Given the description of an element on the screen output the (x, y) to click on. 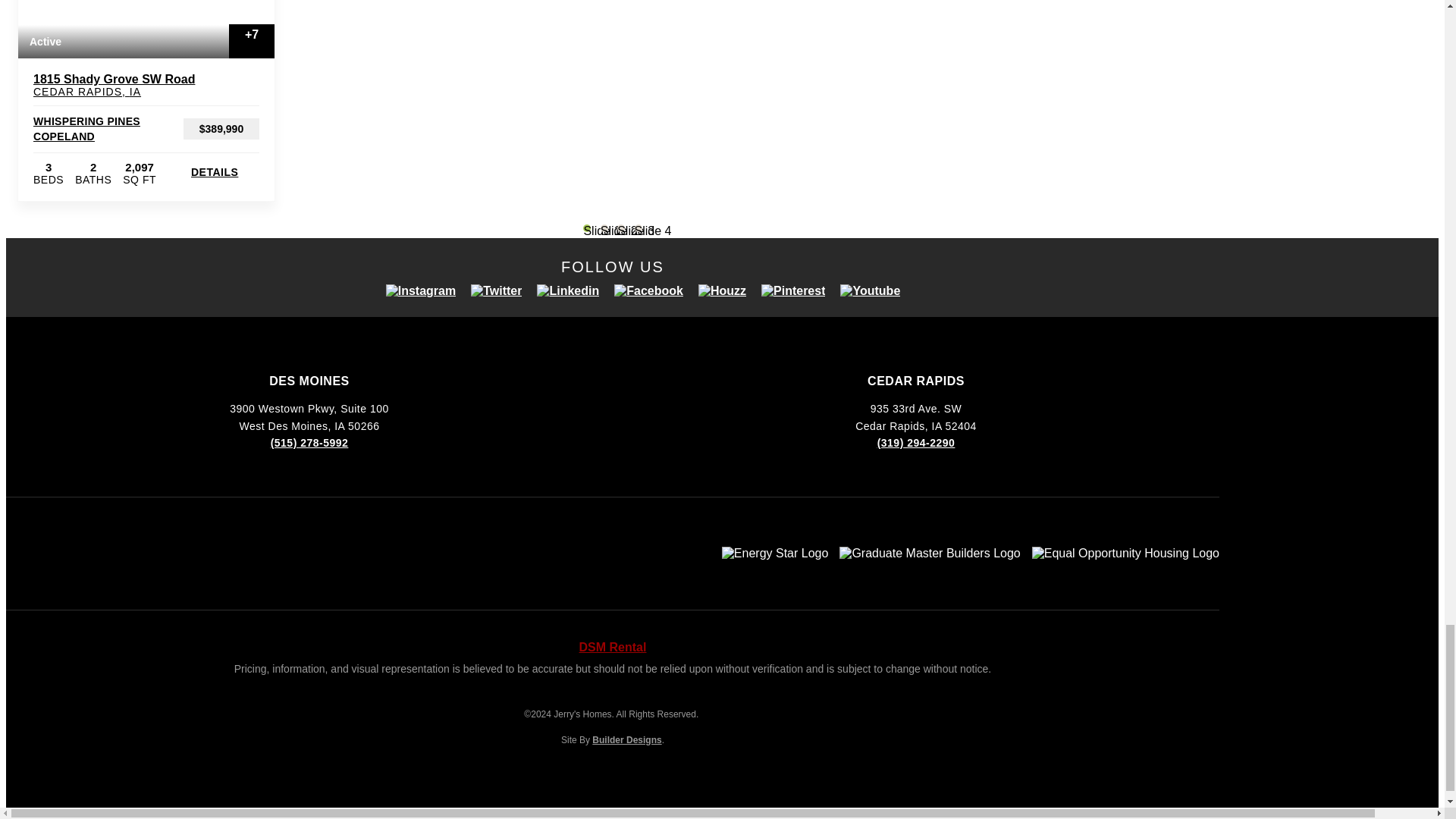
DETAILS (224, 172)
Map This Home (254, 81)
COPELAND (63, 136)
Builder Designs (626, 739)
WHISPERING PINES (86, 121)
DSM Rental (612, 646)
